Given the description of an element on the screen output the (x, y) to click on. 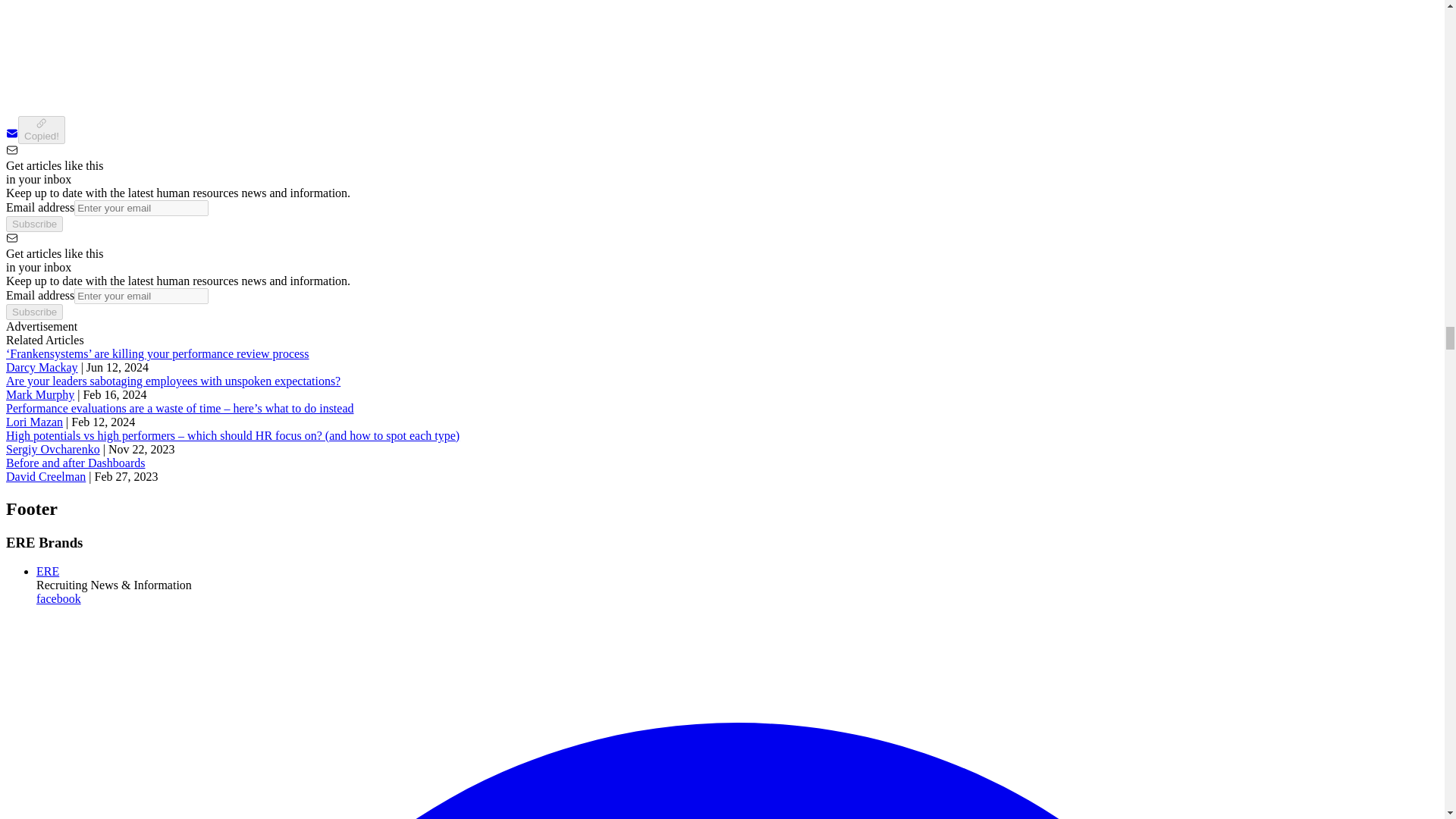
Darcy Mackay (41, 367)
Sergiy Ovcharenko (52, 449)
Subscribe (33, 311)
David Creelman (45, 476)
Copied! (41, 130)
Lori Mazan (33, 421)
Subscribe (33, 223)
ERE (47, 571)
Before and after Dashboards (74, 462)
